Given the description of an element on the screen output the (x, y) to click on. 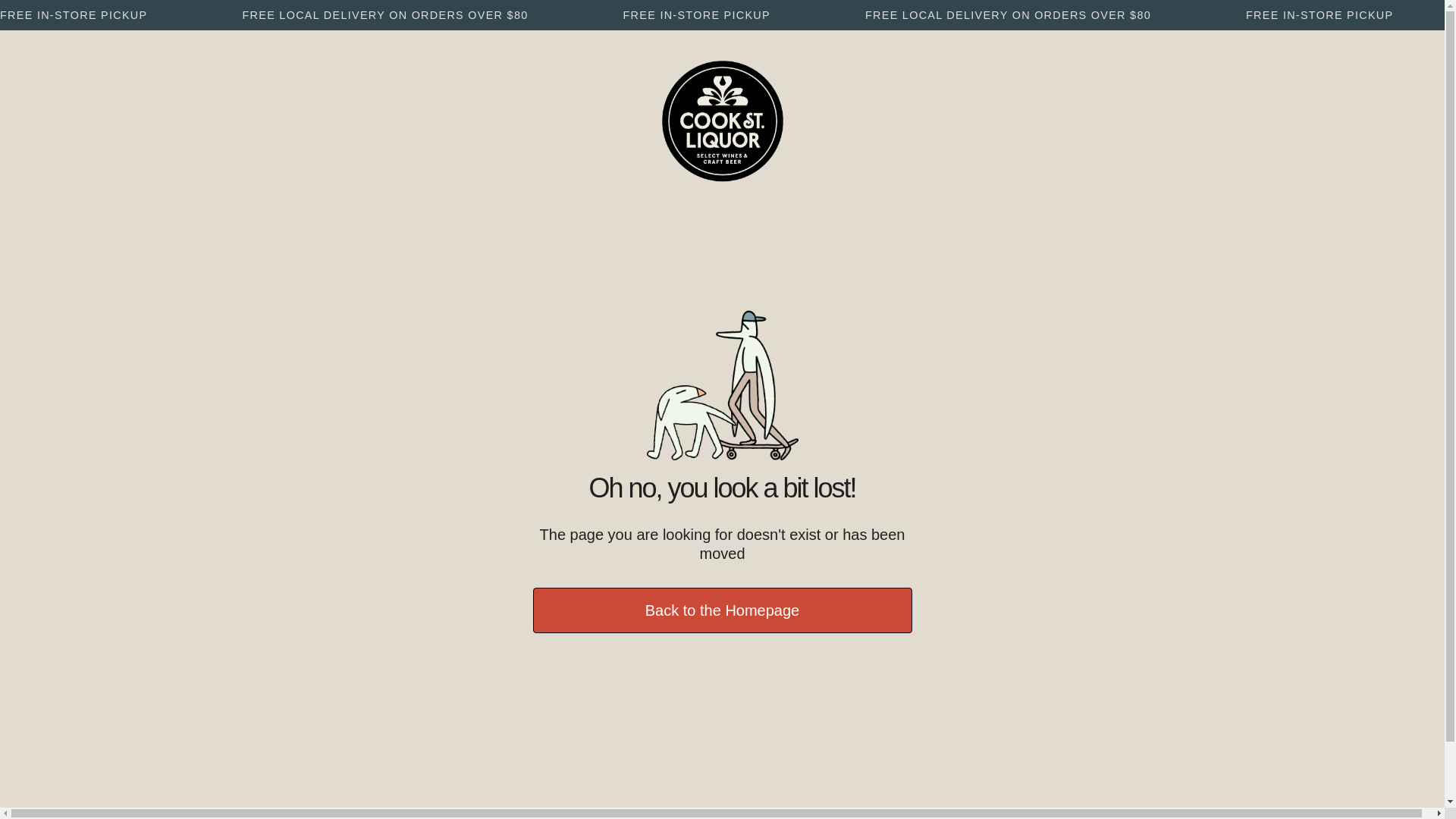
Back to the Homepage (721, 610)
